Given the description of an element on the screen output the (x, y) to click on. 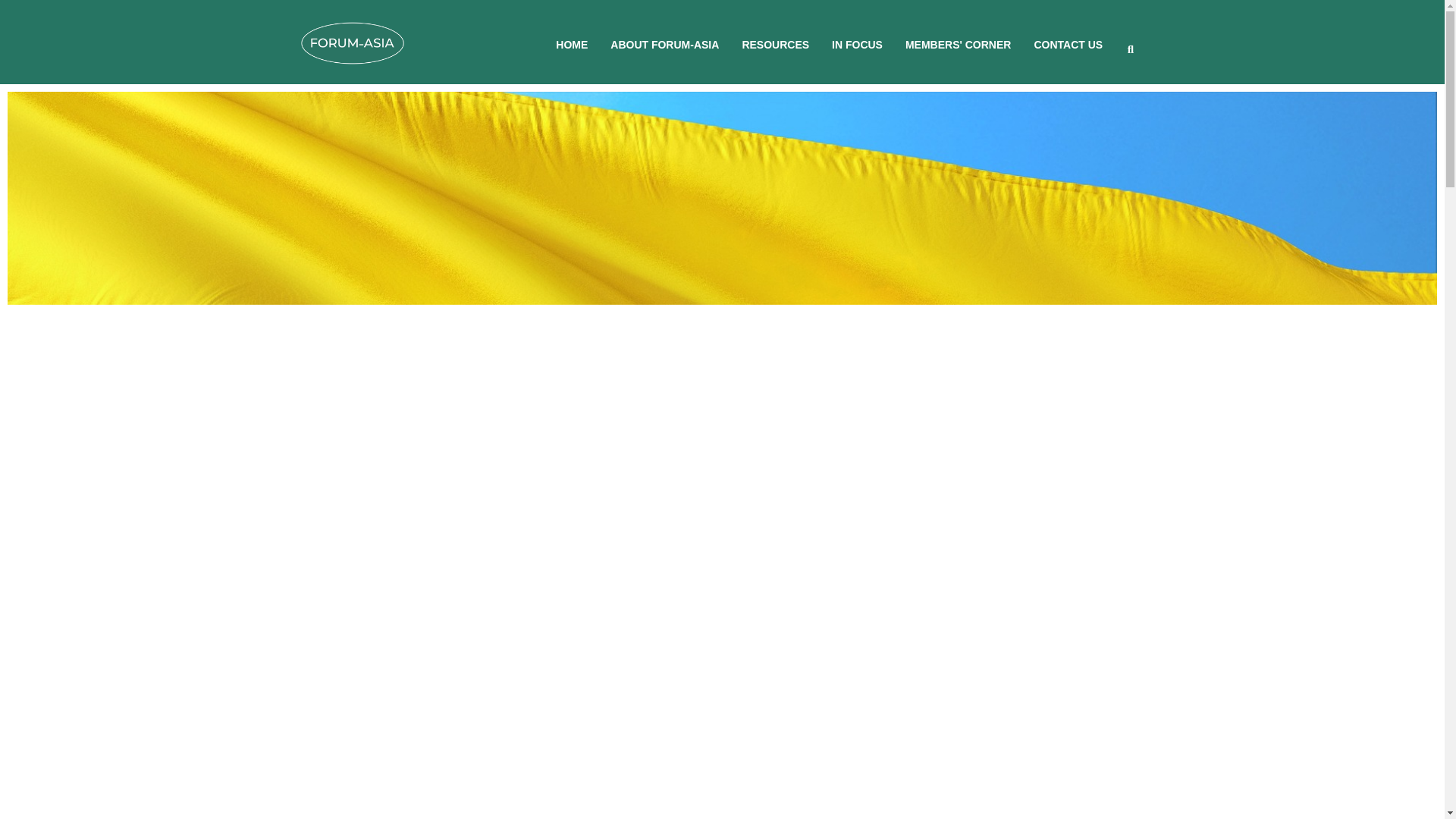
IN FOCUS (856, 44)
CONTACT US (1067, 44)
RESOURCES (774, 44)
MEMBERS' CORNER (957, 44)
HOME (571, 44)
ABOUT FORUM-ASIA (664, 44)
